Given the description of an element on the screen output the (x, y) to click on. 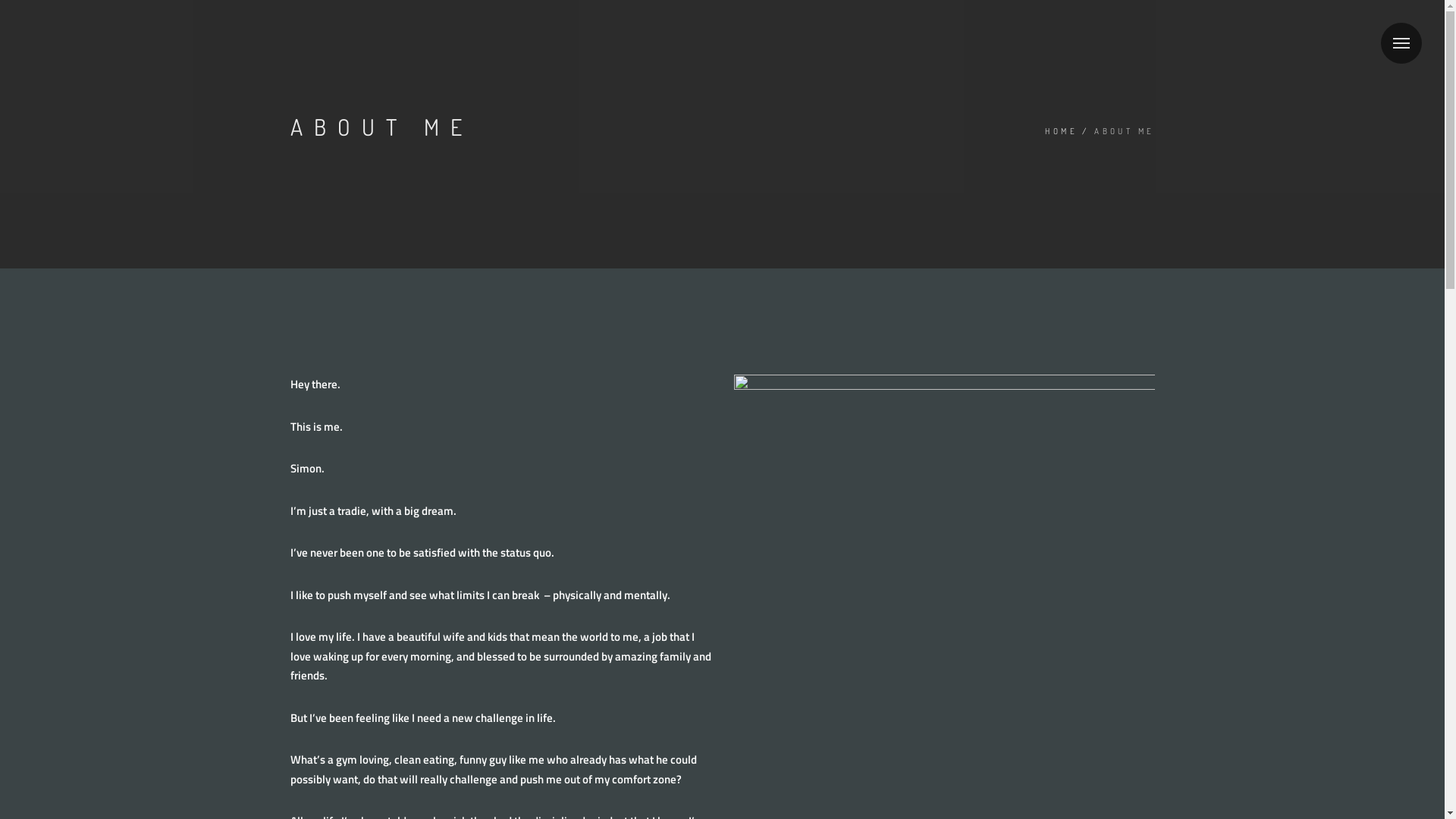
Menu Element type: text (1400, 42)
HOME Element type: text (1060, 131)
